Given the description of an element on the screen output the (x, y) to click on. 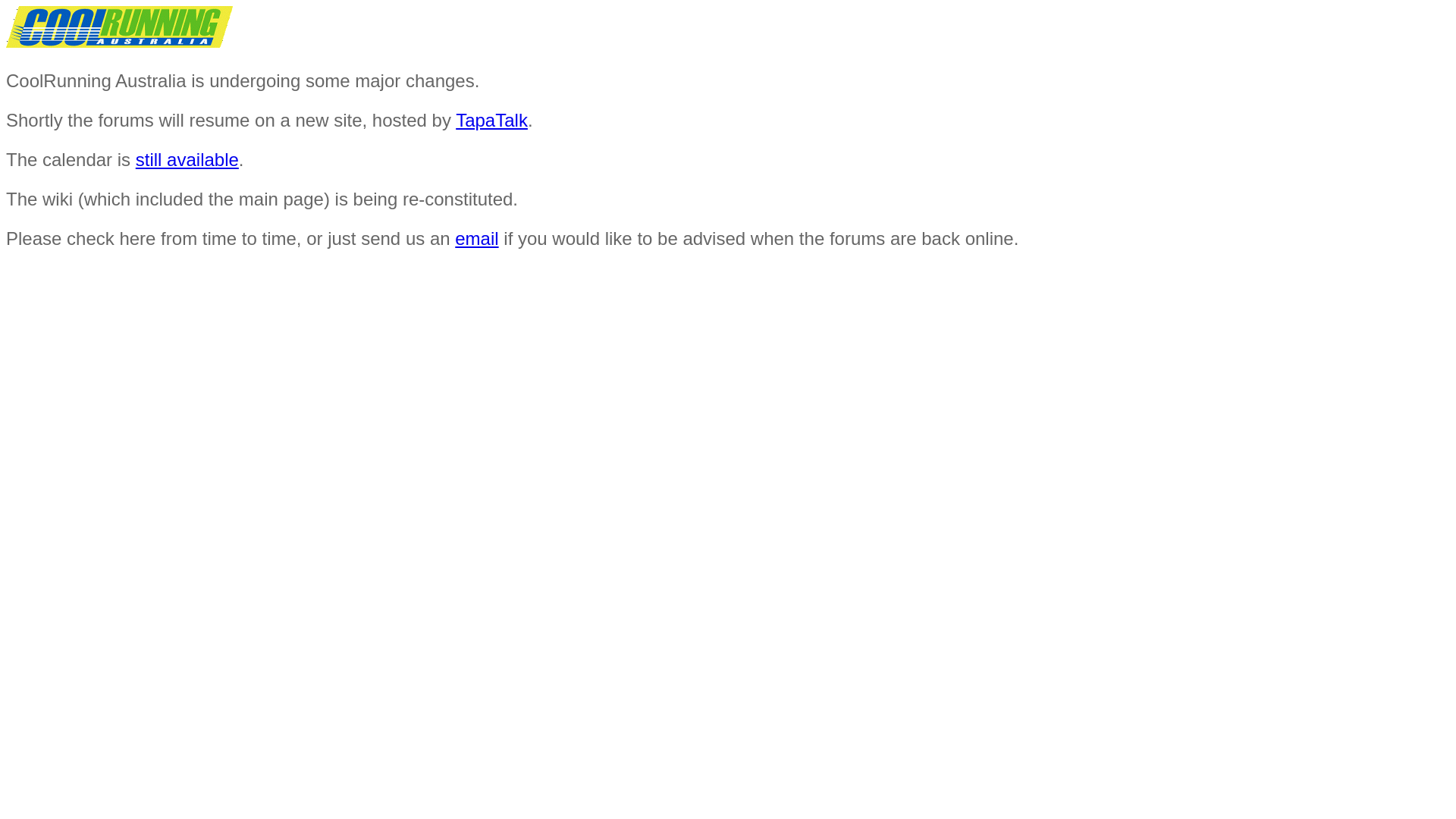
TapaTalk Element type: text (491, 119)
Advertisement Element type: hover (1045, 364)
email Element type: text (476, 238)
still available Element type: text (186, 159)
Advertisement Element type: hover (573, 364)
Advertisement Element type: hover (102, 364)
